Given the description of an element on the screen output the (x, y) to click on. 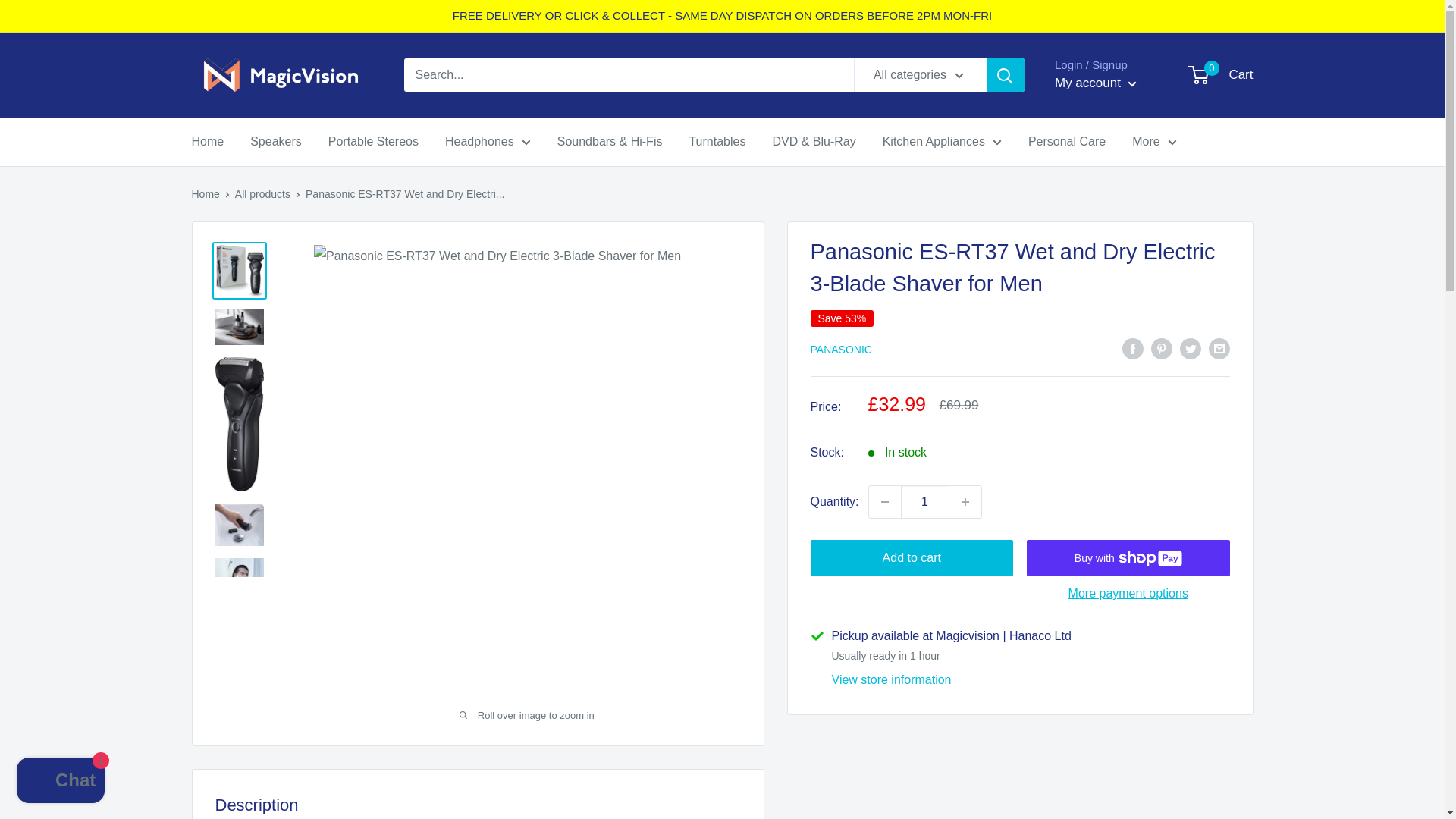
magicvision.uk (281, 74)
1 (925, 501)
Increase quantity by 1 (965, 501)
Decrease quantity by 1 (885, 501)
Shopify online store chat (60, 781)
